Given the description of an element on the screen output the (x, y) to click on. 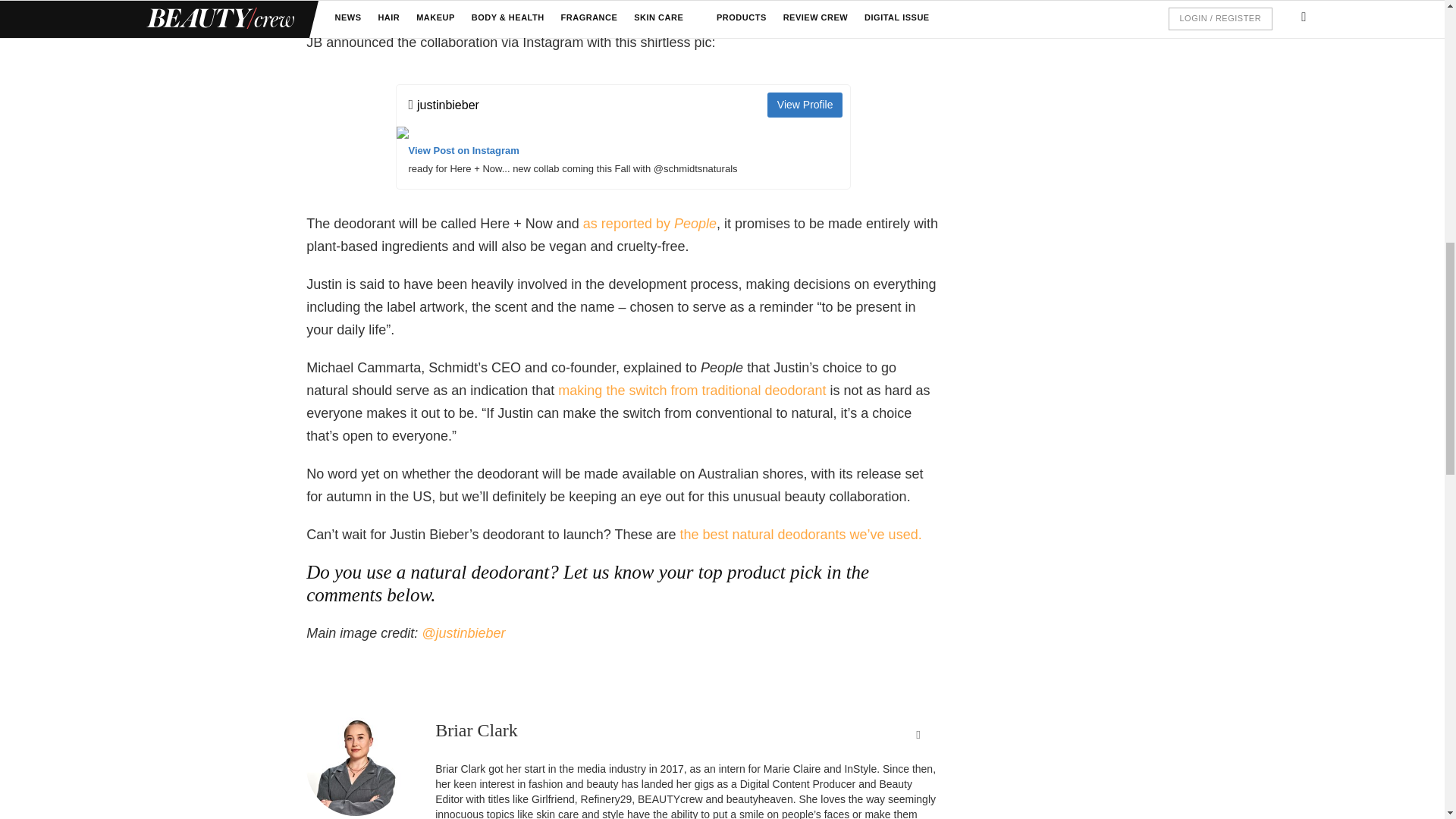
People (649, 223)
Instagram (463, 632)
BeautyCrew (691, 390)
BeautyCrew (800, 534)
